Given the description of an element on the screen output the (x, y) to click on. 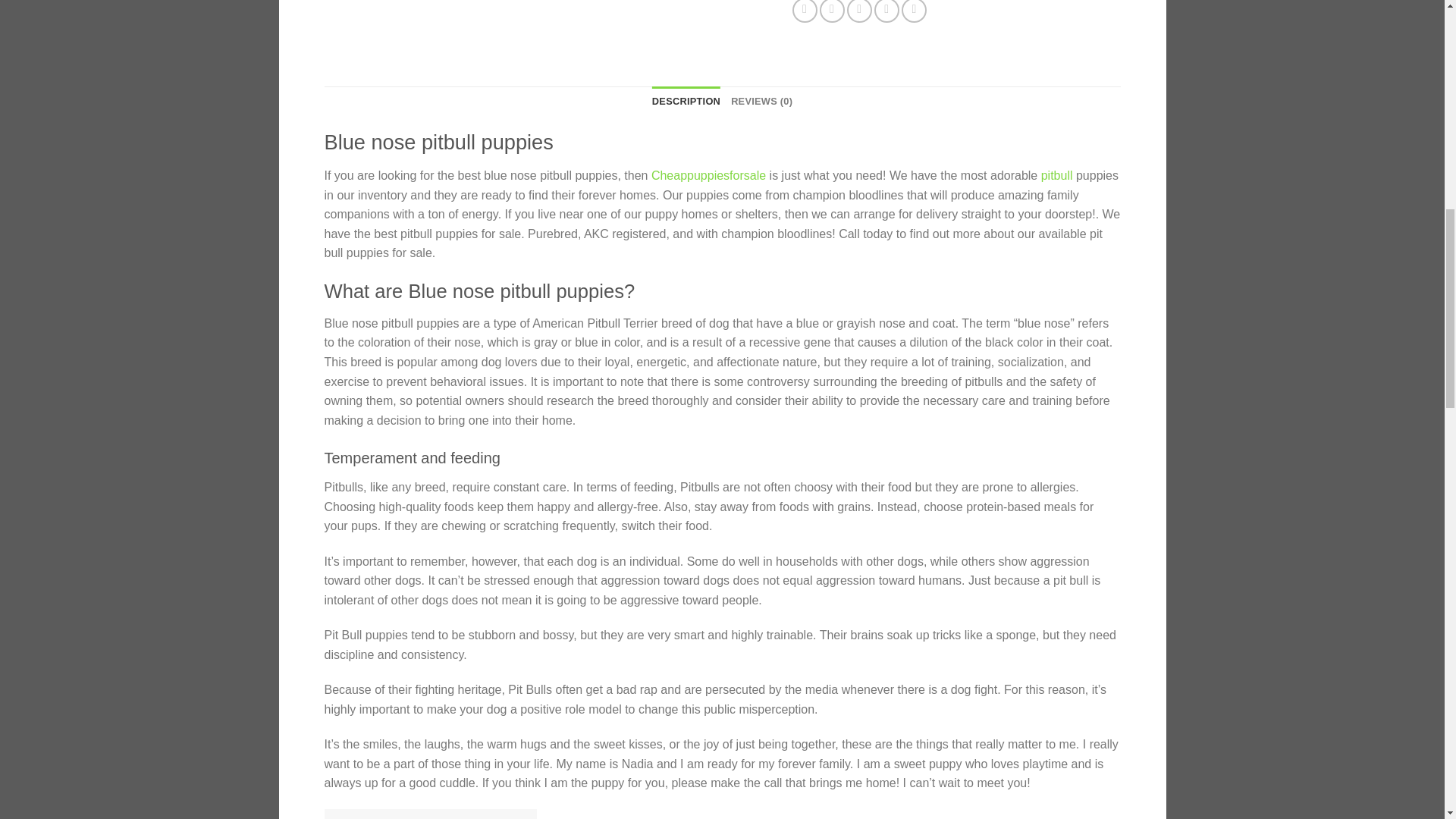
Email to a Friend (859, 11)
Share on Twitter (831, 11)
Share on Facebook (804, 11)
Cheappuppiesforsale (707, 174)
DESCRIPTION (686, 101)
